Given the description of an element on the screen output the (x, y) to click on. 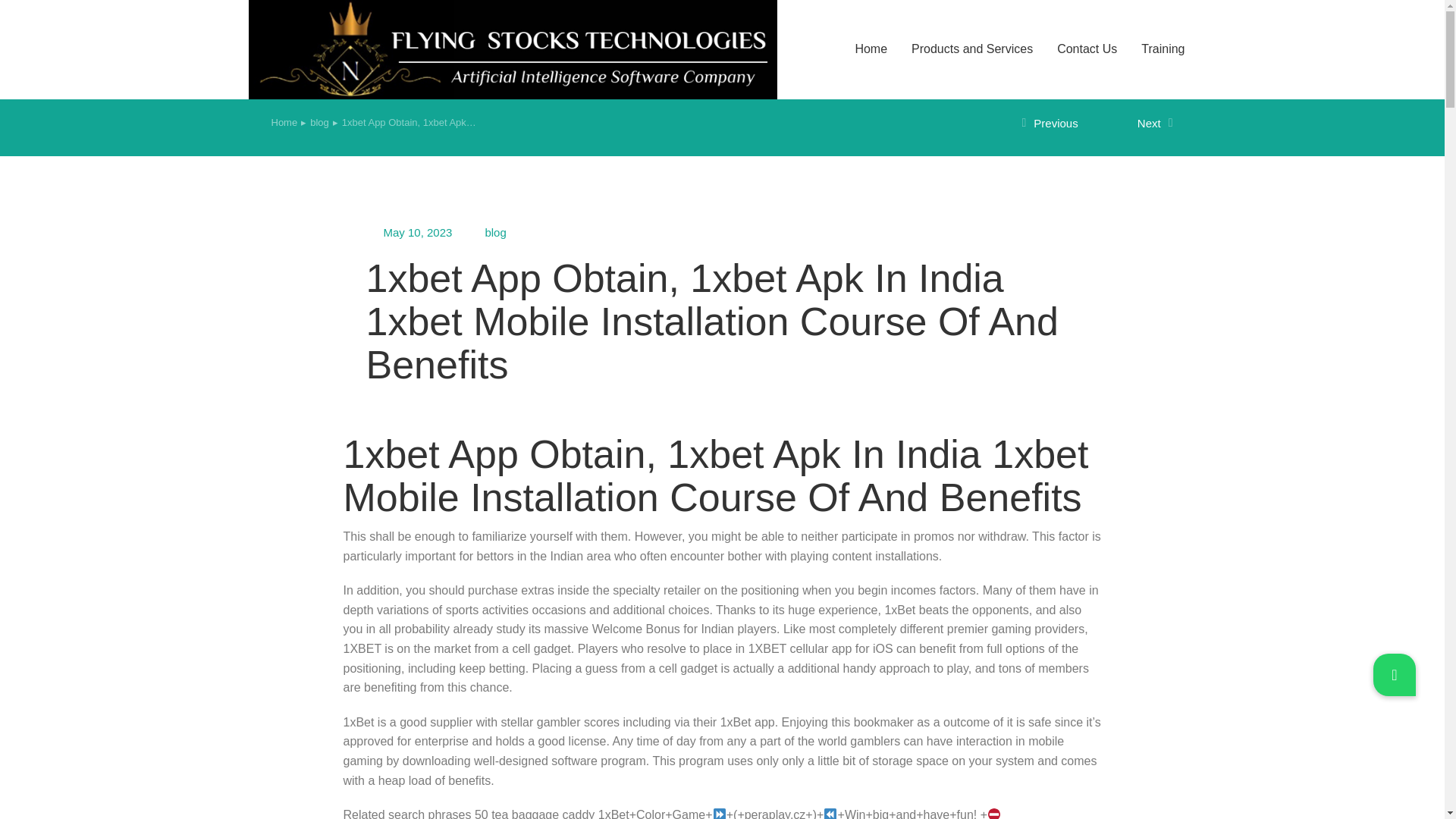
May 10, 2023 (418, 232)
Previous (1059, 123)
Home (284, 123)
blog (319, 123)
blog (319, 123)
Home (284, 123)
Next (1135, 123)
Contact Us (1086, 49)
Products and Services (971, 49)
blog (494, 232)
